Given the description of an element on the screen output the (x, y) to click on. 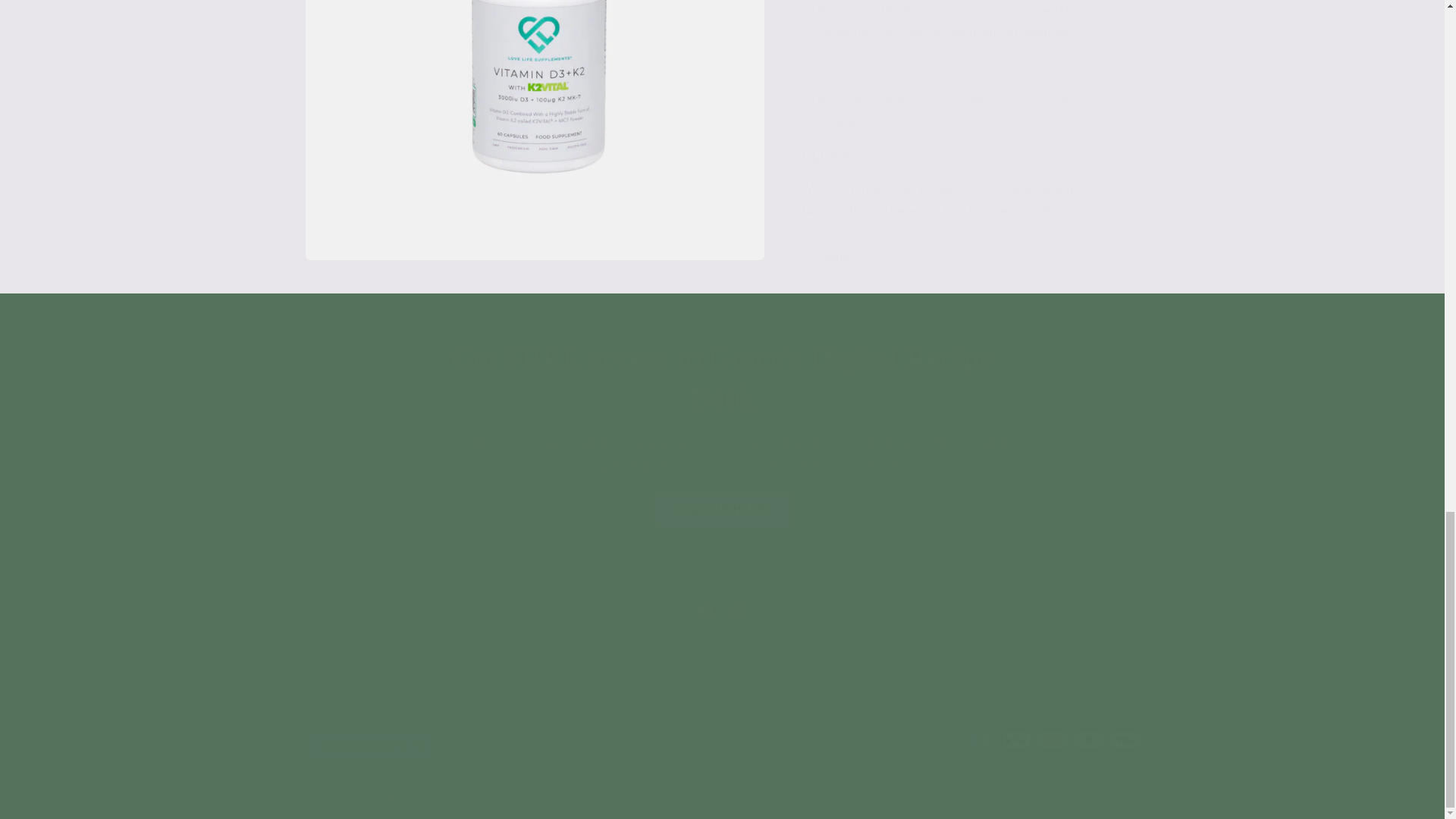
Get FREE access to Grace's Digital Recipe Book (721, 378)
SIGN UP HERE (721, 611)
